Given the description of an element on the screen output the (x, y) to click on. 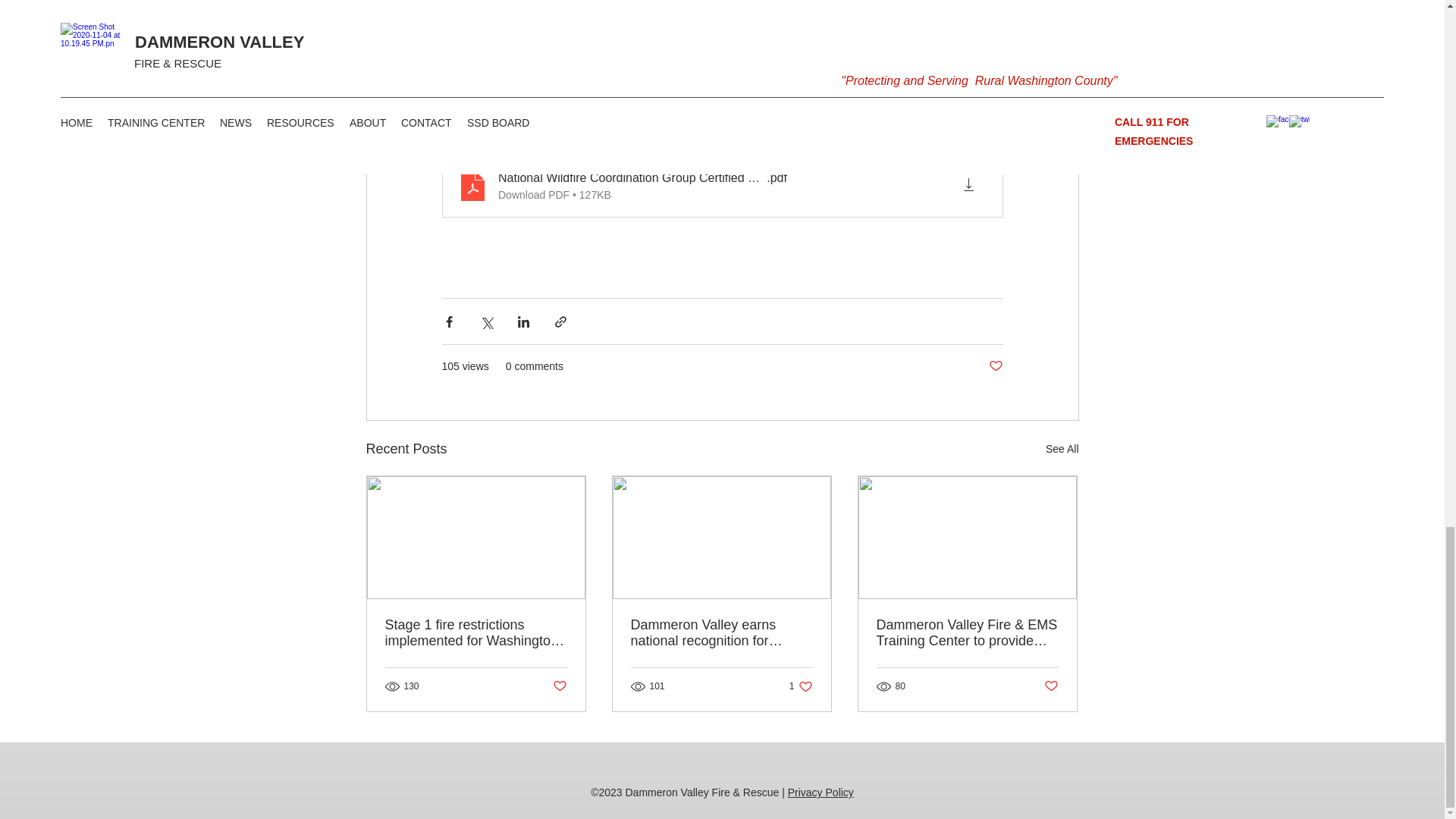
Stage 1 fire restrictions implemented for Washington County (800, 686)
Post not marked as liked (476, 633)
Privacy Policy (995, 366)
See All (820, 792)
Post not marked as liked (1061, 449)
Post not marked as liked (1050, 686)
